Given the description of an element on the screen output the (x, y) to click on. 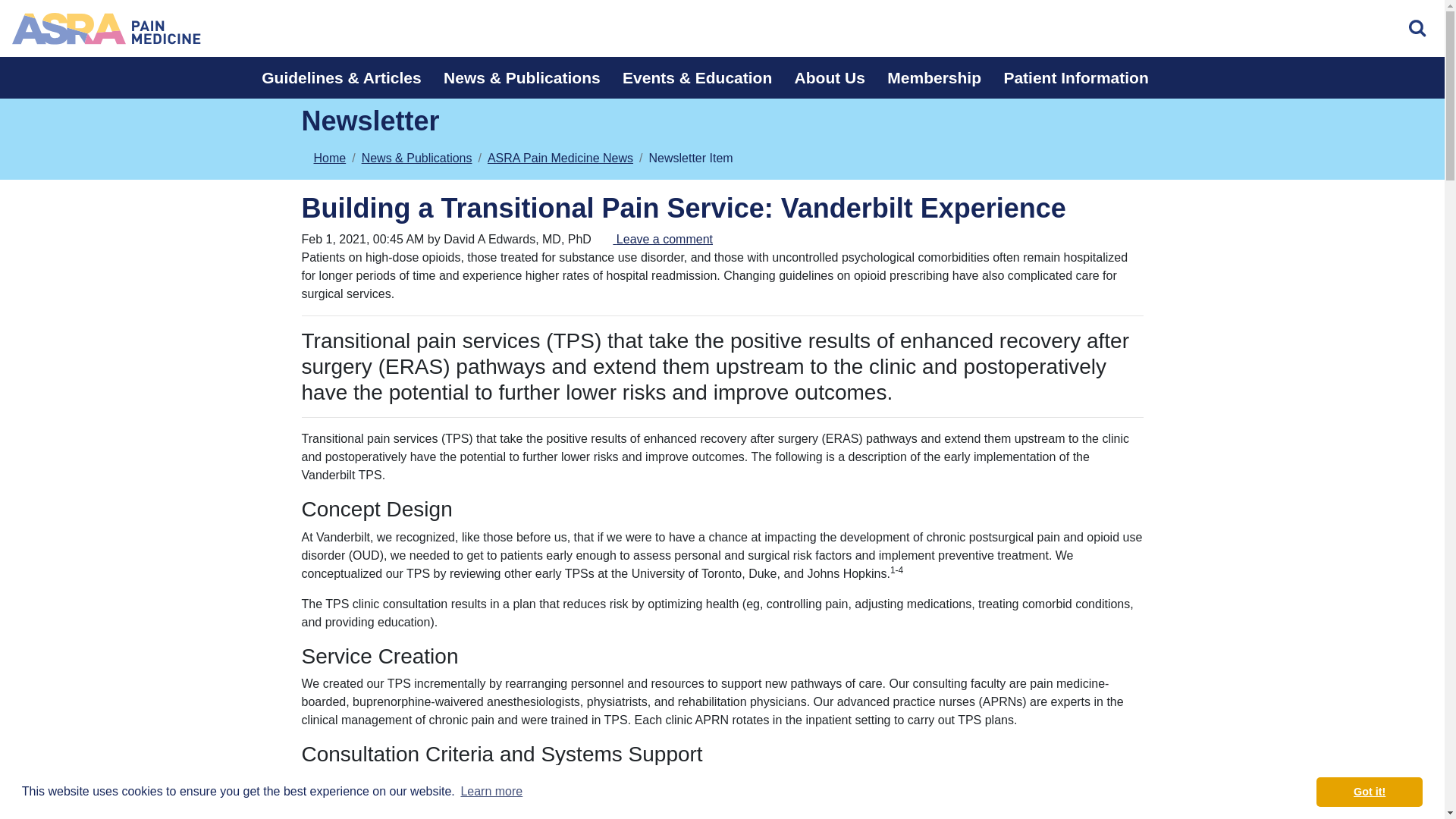
Home (105, 28)
Learn more (491, 791)
Got it! (1369, 791)
Search (1417, 28)
